Given the description of an element on the screen output the (x, y) to click on. 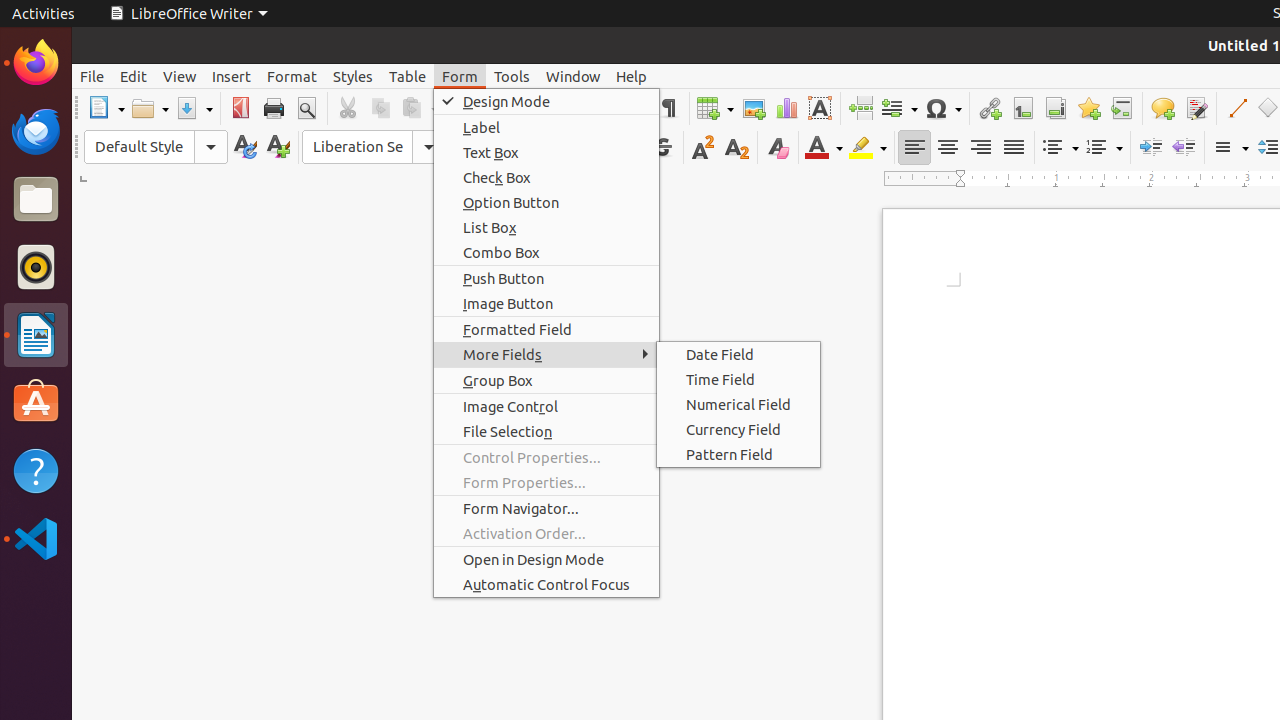
Image Button Element type: check-menu-item (546, 303)
Endnote Element type: push-button (1055, 108)
Numbering Element type: push-button (1104, 147)
Automatic Control Focus Element type: check-menu-item (546, 584)
Line Spacing Element type: push-button (1230, 147)
